Given the description of an element on the screen output the (x, y) to click on. 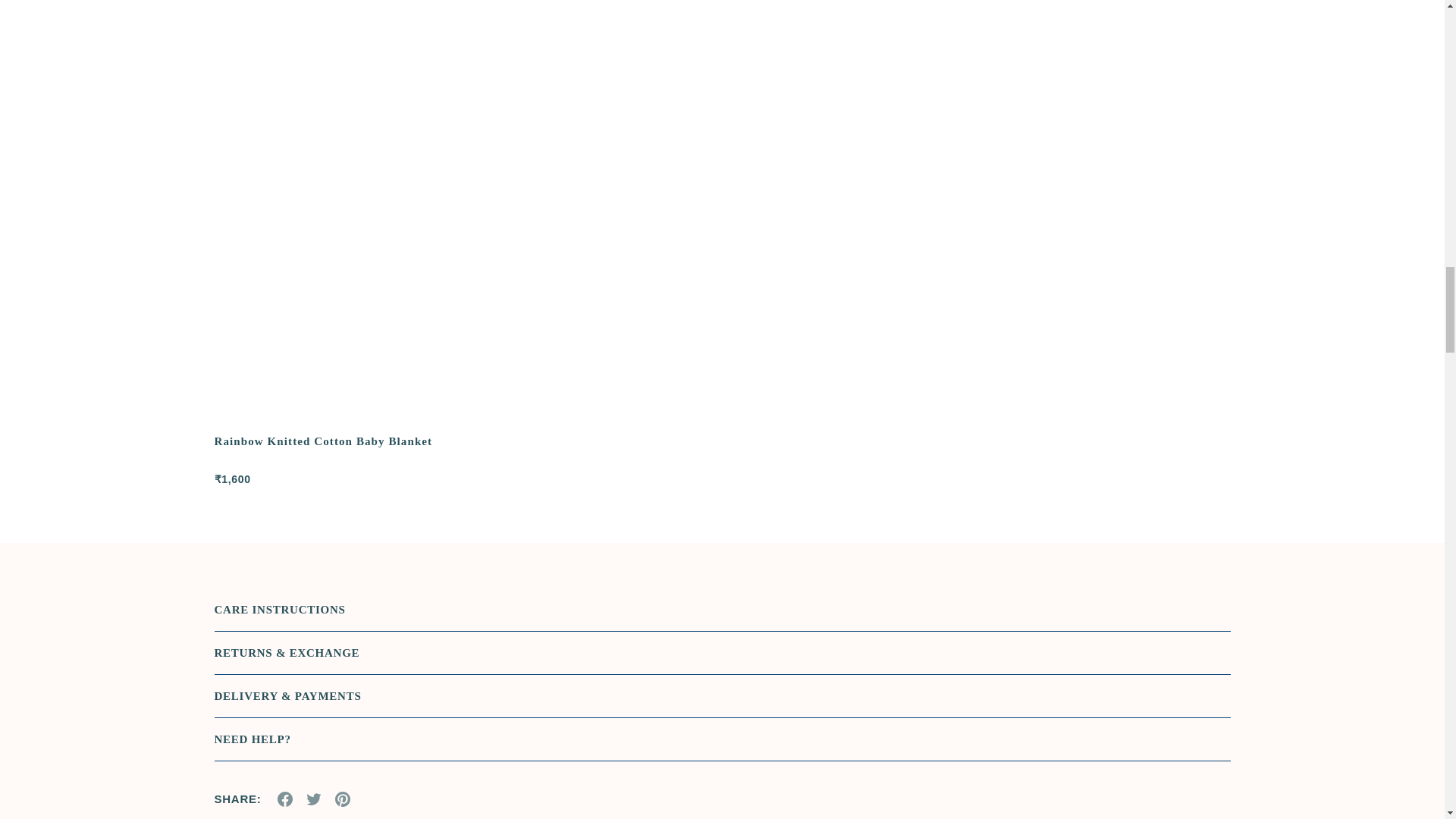
Tweet on Twitter (313, 798)
Pin on Pinterest (342, 798)
Share on Facebook (285, 798)
